Given the description of an element on the screen output the (x, y) to click on. 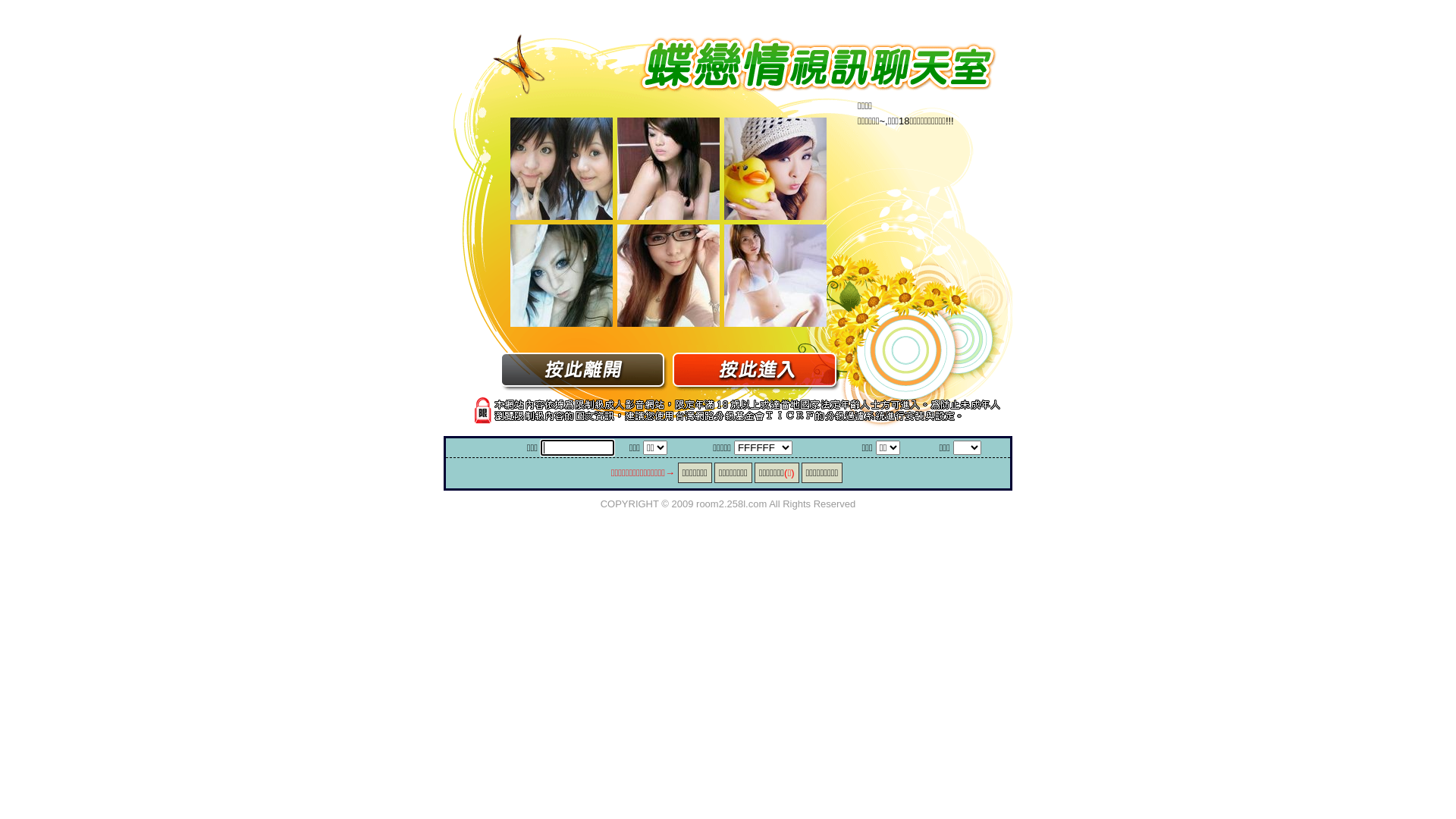
room2.258l.com Element type: text (731, 502)
